Given the description of an element on the screen output the (x, y) to click on. 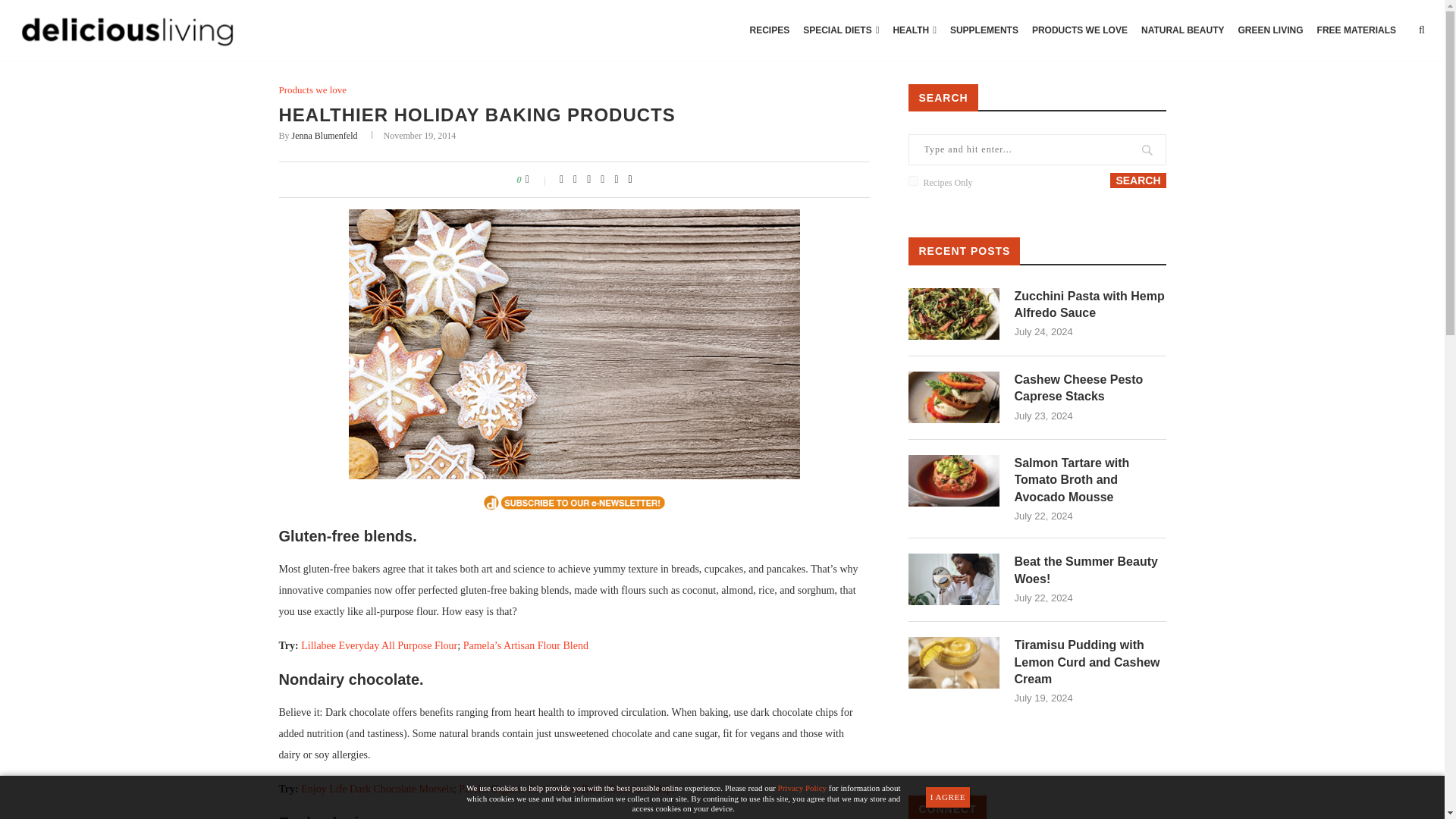
GREEN LIVING (1270, 30)
FREE MATERIALS (1356, 30)
Products we love (313, 90)
Like (537, 179)
NATURAL BEAUTY (1182, 30)
type:recipe (913, 180)
HEALTH (914, 30)
SPECIAL DIETS (840, 30)
search (1137, 180)
PRODUCTS WE LOVE (1079, 30)
type:recipe (913, 180)
Jenna Blumenfeld (325, 135)
SUPPLEMENTS (984, 30)
